Given the description of an element on the screen output the (x, y) to click on. 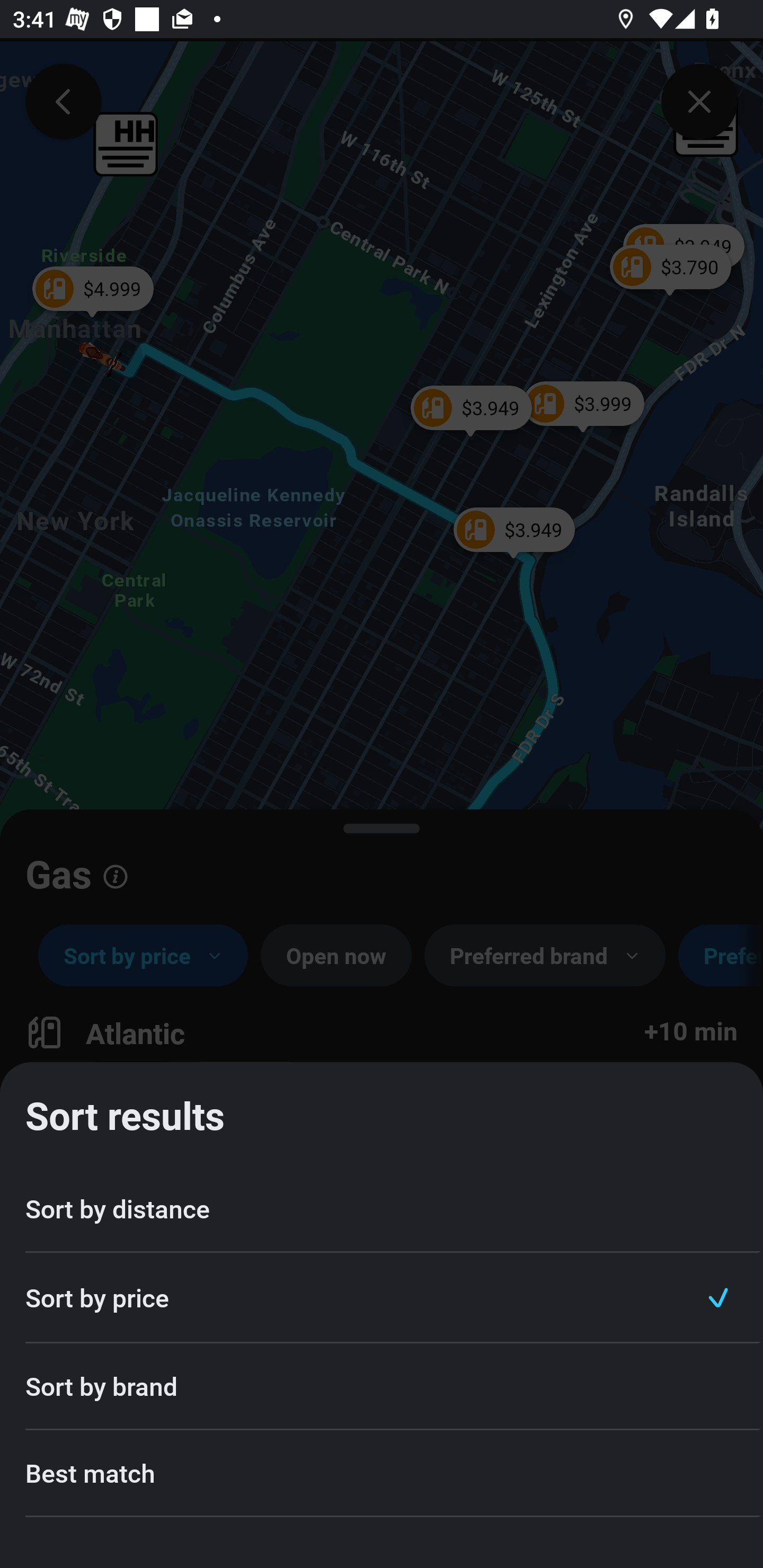
Sort by distance ACTION_CELL_TEXT (381, 1209)
Sort by price ACTION_CELL_TEXT (381, 1297)
Sort by brand ACTION_CELL_TEXT (381, 1386)
Best match ACTION_CELL_TEXT (381, 1473)
